Given the description of an element on the screen output the (x, y) to click on. 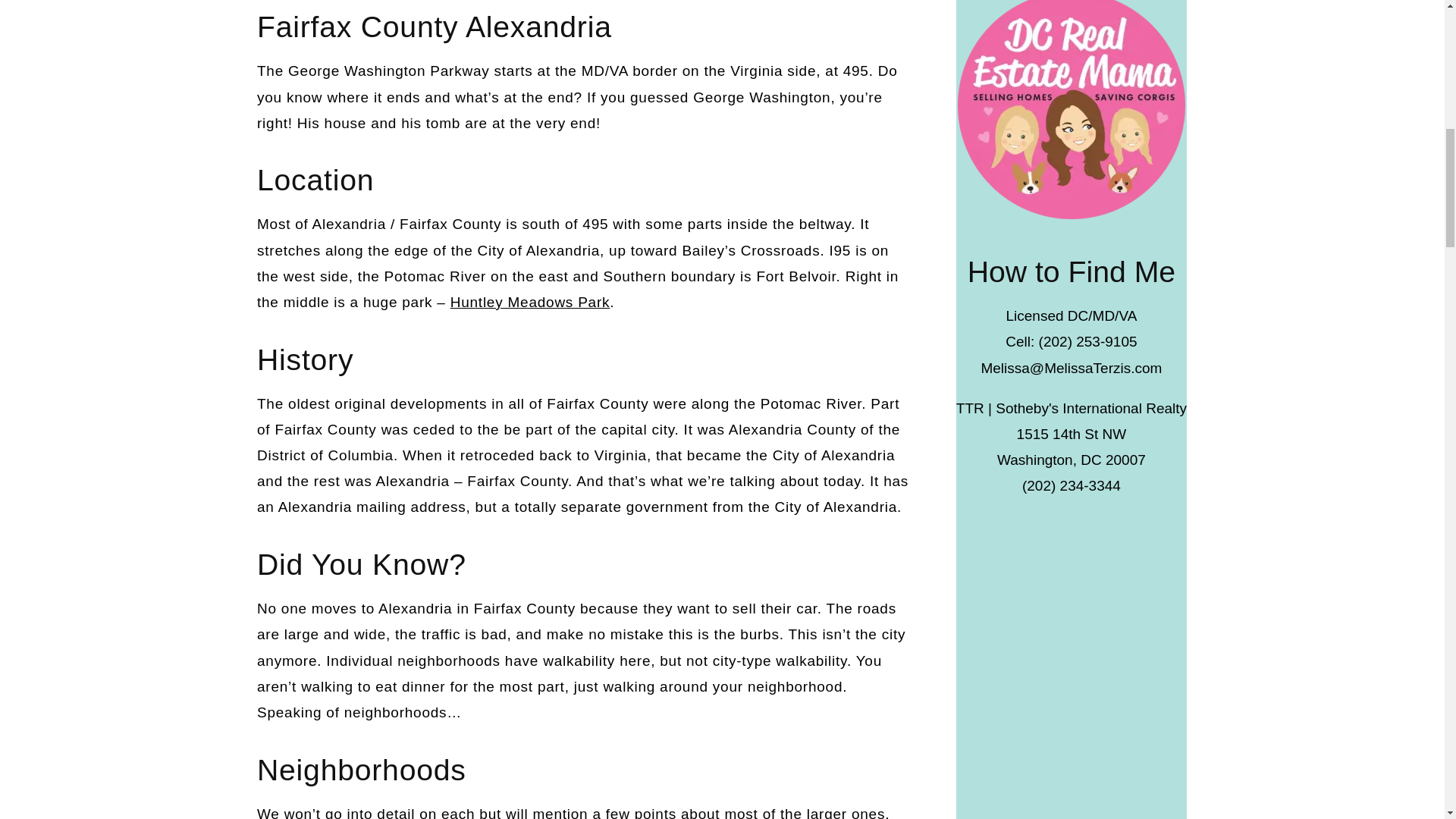
Huntley Meadows Park (529, 302)
circle-cropped (1071, 109)
